Given the description of an element on the screen output the (x, y) to click on. 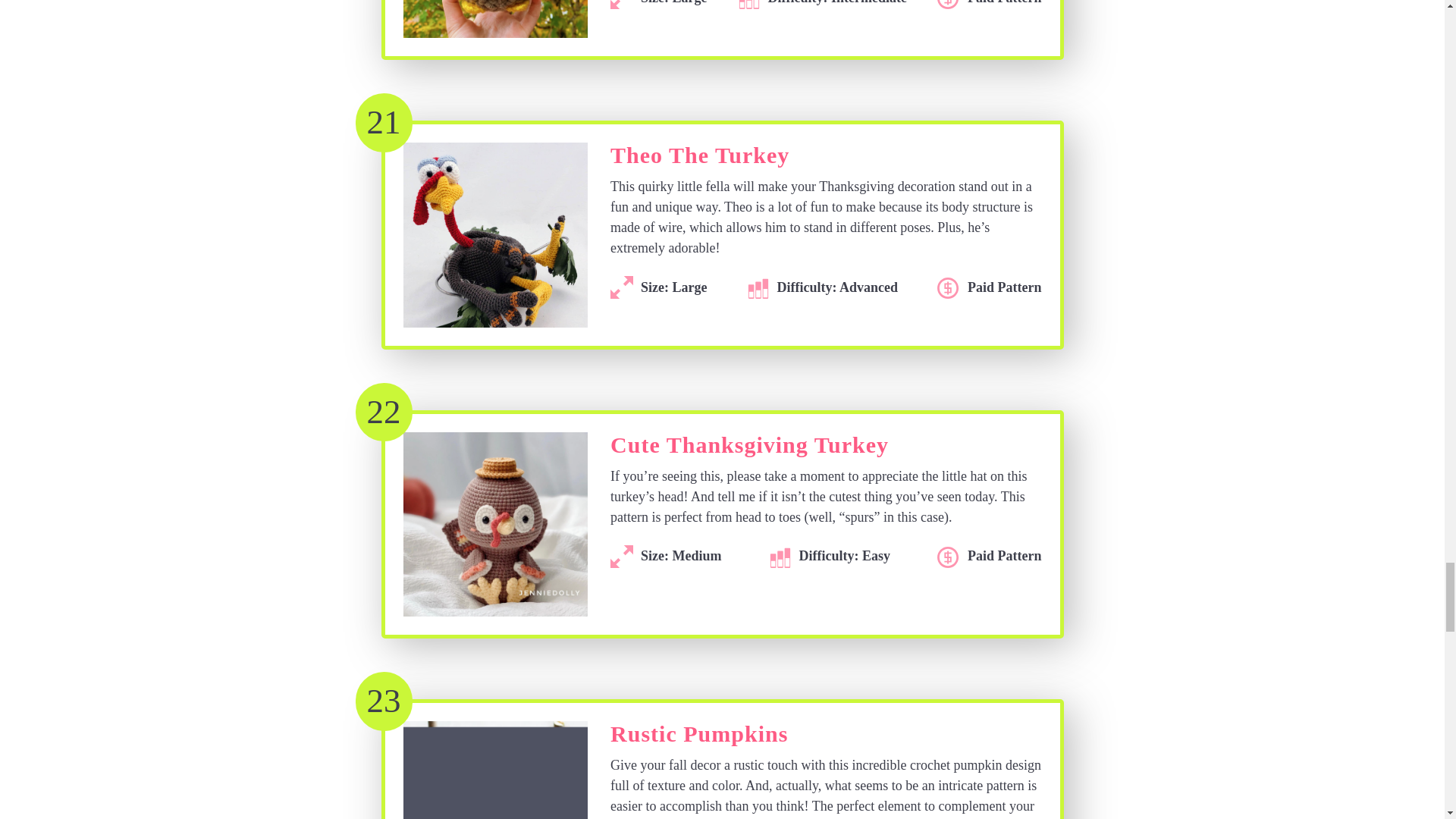
Theo The Turkey (699, 159)
Rustic Pumpkins (698, 738)
Cute Thanksgiving Turkey (749, 449)
